Given the description of an element on the screen output the (x, y) to click on. 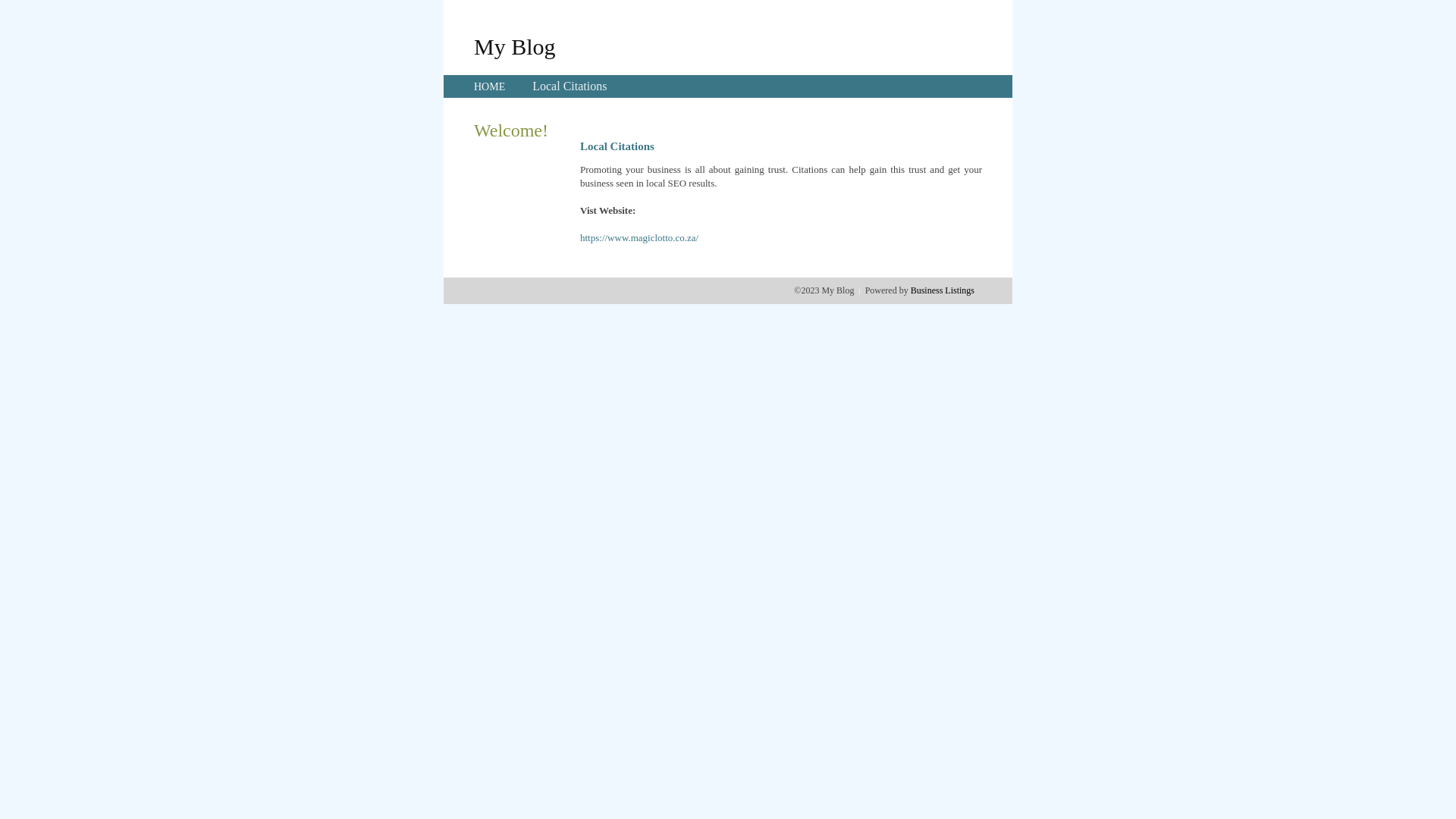
https://www.magiclotto.co.za/ Element type: text (639, 237)
Local Citations Element type: text (569, 85)
My Blog Element type: text (514, 46)
HOME Element type: text (489, 86)
Business Listings Element type: text (942, 290)
